Given the description of an element on the screen output the (x, y) to click on. 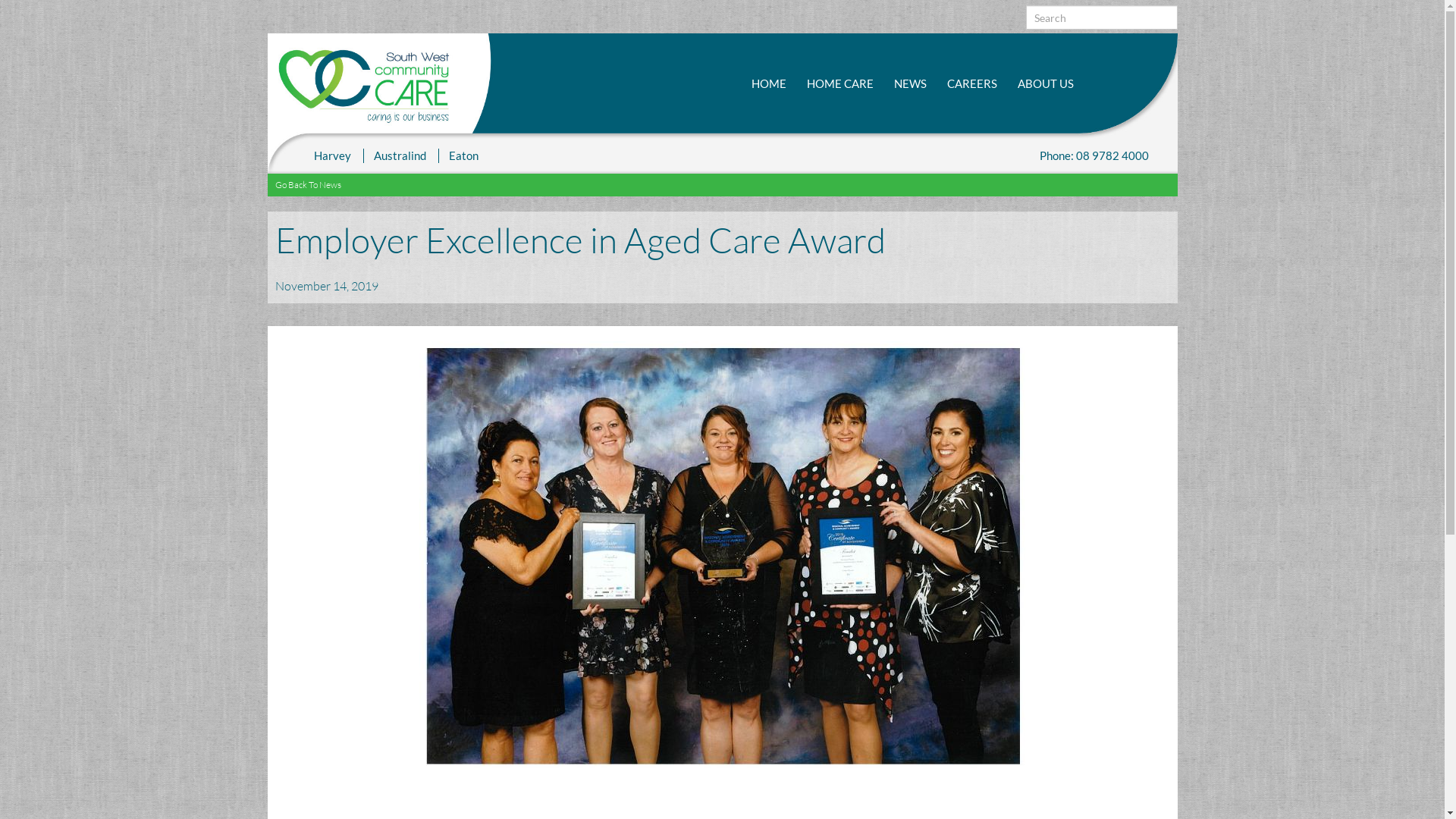
ABOUT US Element type: text (1045, 83)
Go Back To News Element type: text (308, 184)
HOME CARE Element type: text (839, 83)
Australind Element type: text (400, 155)
Phone: 08 9782 4000 Element type: text (1093, 155)
Harvey Element type: text (331, 155)
Submit Element type: text (1057, 66)
Eaton Element type: text (462, 155)
CAREERS Element type: text (971, 83)
NEWS Element type: text (909, 83)
HOME Element type: text (767, 83)
